Given the description of an element on the screen output the (x, y) to click on. 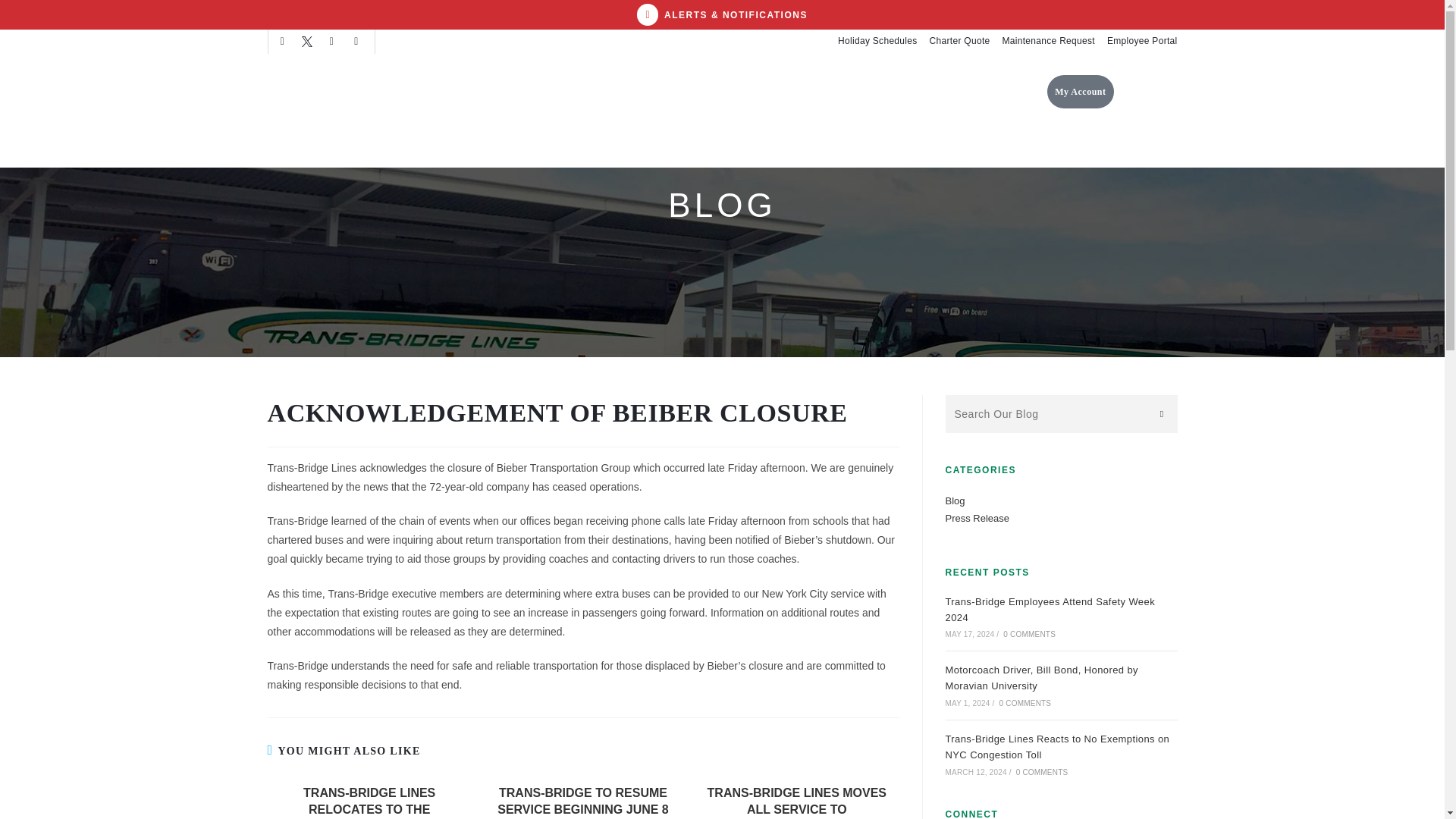
610-868-6001 (1148, 91)
Contact (883, 91)
My Account (1079, 91)
Fares (675, 91)
Maintenance Request (1048, 41)
Employee Portal (1141, 41)
Charter Quote (960, 41)
Charters (821, 91)
Reservations (743, 91)
Holiday Schedules (877, 41)
